Given the description of an element on the screen output the (x, y) to click on. 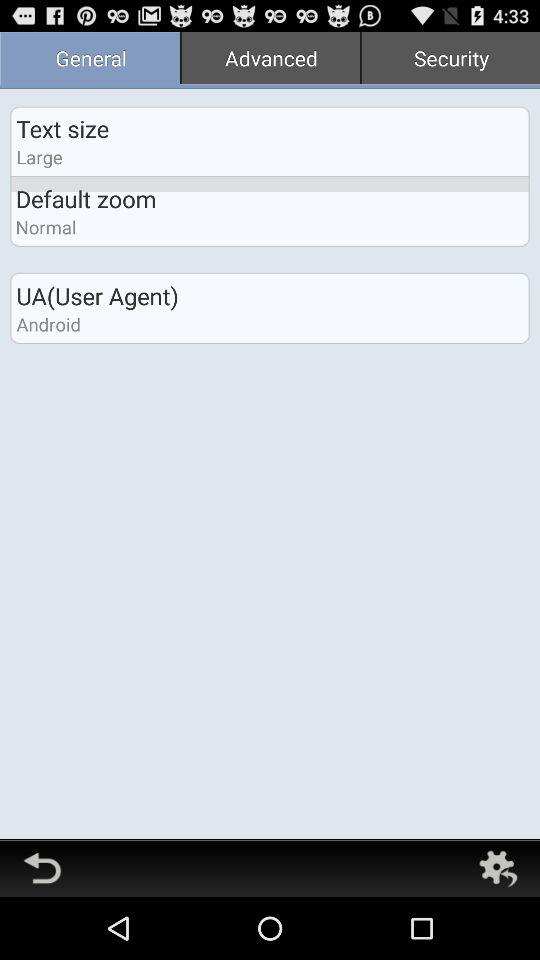
go to settings (498, 868)
